Given the description of an element on the screen output the (x, y) to click on. 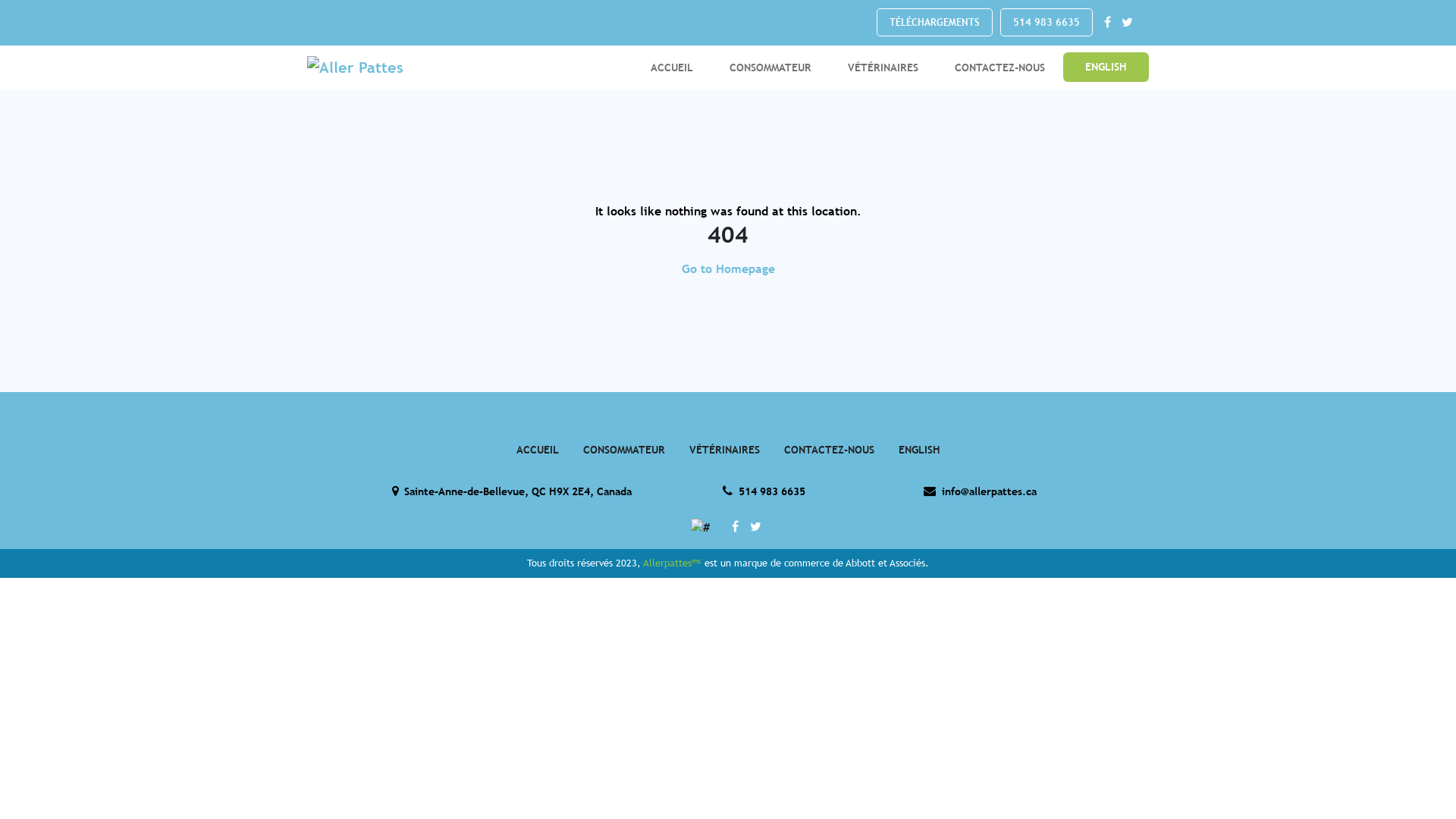
Aller Pattes Element type: hover (410, 67)
Go to Homepage Element type: text (727, 268)
CONSOMMATEUR Element type: text (770, 67)
ACCUEIL Element type: text (536, 448)
514 983 6635 Element type: text (1046, 22)
CONSOMMATEUR Element type: text (623, 448)
ENGLISH Element type: text (1105, 66)
ENGLISH Element type: text (918, 448)
514 983 6635 Element type: text (763, 490)
ACCUEIL Element type: text (671, 67)
info@allerpattes.ca Element type: text (979, 490)
CONTACTEZ-NOUS Element type: text (828, 448)
CONTACTEZ-NOUS Element type: text (999, 67)
